Given the description of an element on the screen output the (x, y) to click on. 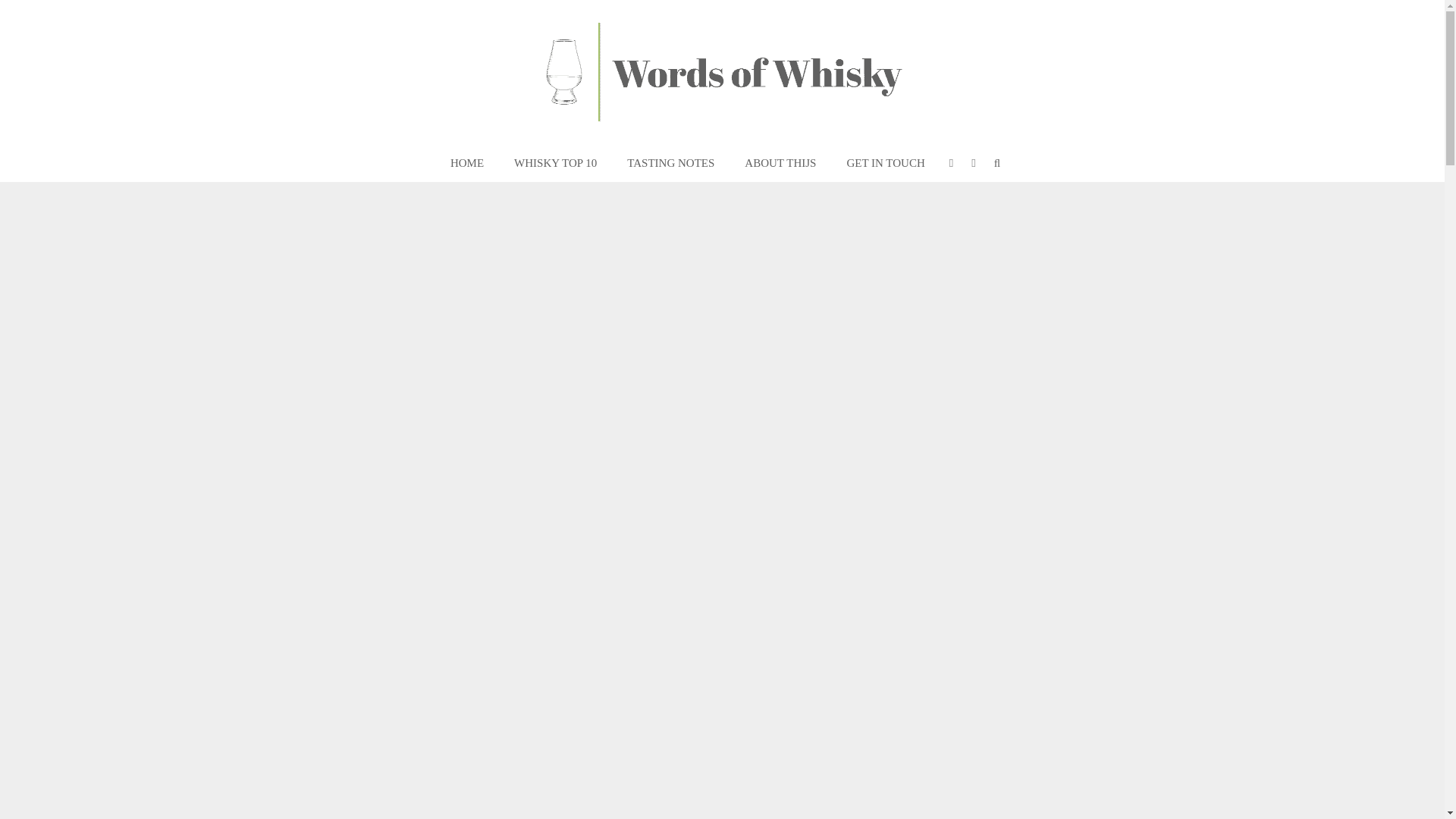
ABOUT THIJS (780, 162)
GET IN TOUCH (885, 162)
HOME (467, 162)
TASTING NOTES (670, 162)
WHISKY TOP 10 (555, 162)
